Given the description of an element on the screen output the (x, y) to click on. 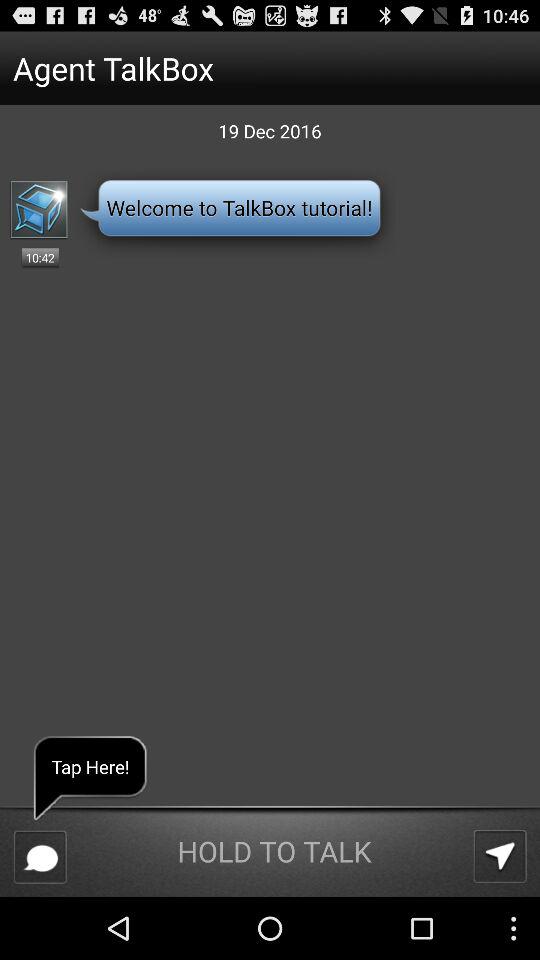
turn on app to the left of hold to talk (40, 856)
